Given the description of an element on the screen output the (x, y) to click on. 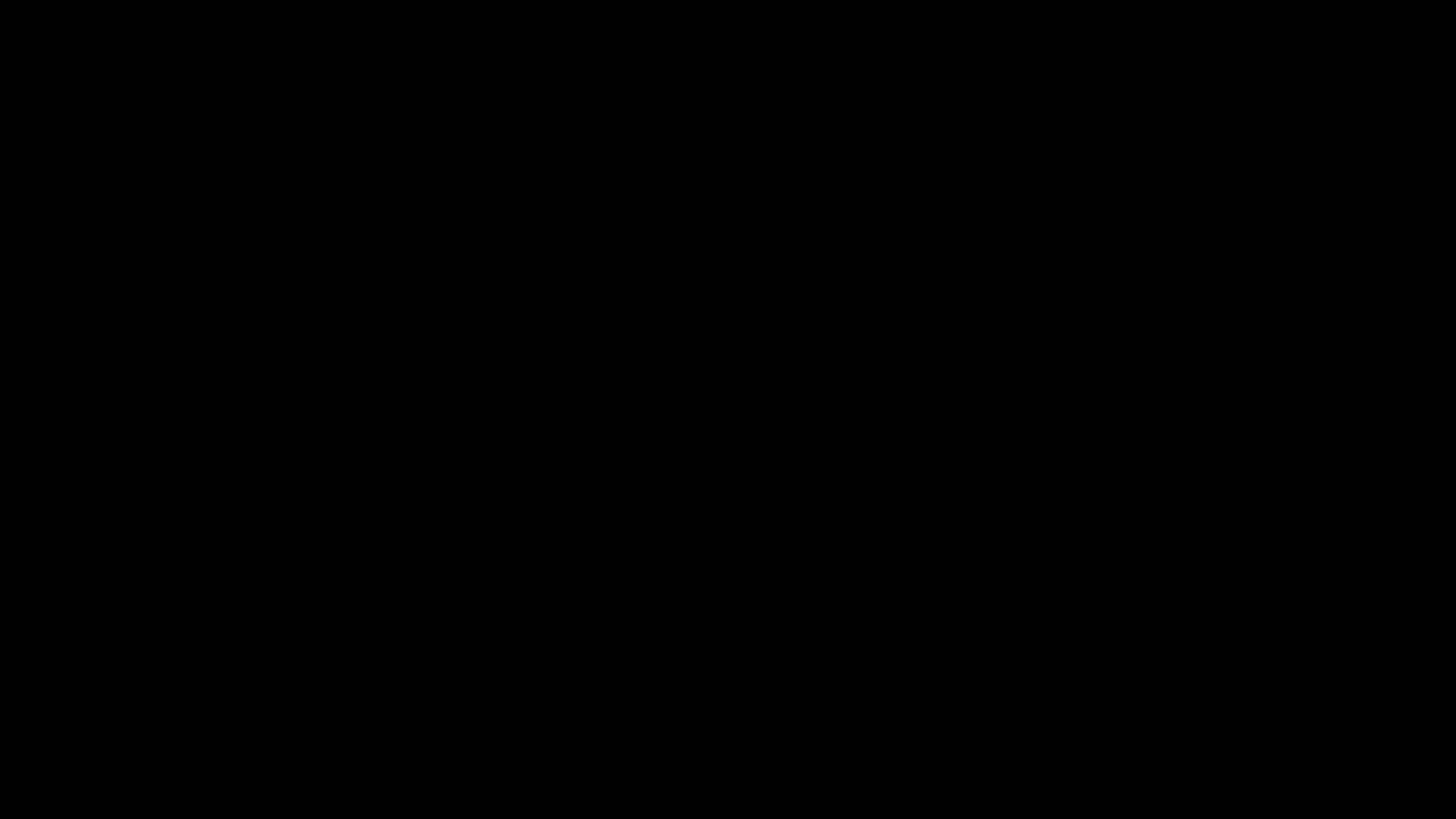
Focus  (1258, 790)
Minimize (1390, 9)
Zoom Out (1374, 790)
Decrease Text Size (1353, 790)
Rectangle: Diagonal Corners Snipped 2 (280, 524)
Morphological variation in six dogs (106, 313)
Class: MsoCommandBar (728, 789)
Auto-hide Reading Toolbar (1364, 9)
Zoom In (1404, 790)
Class: NetUIScrollBar (728, 778)
Restore Down (1416, 9)
Airplane with solid fill (71, 523)
Read Mode (1290, 790)
